Given the description of an element on the screen output the (x, y) to click on. 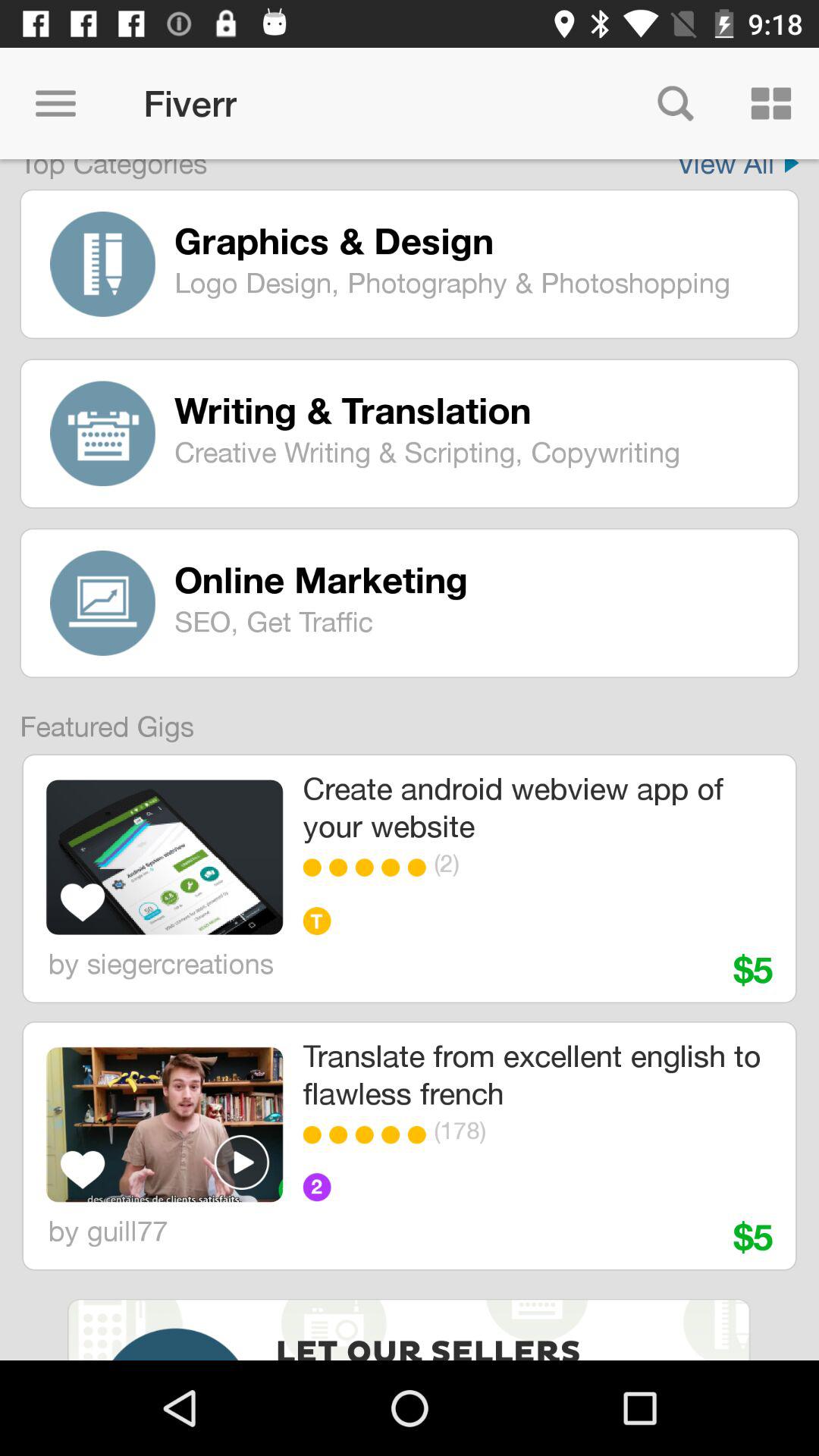
press the translate from excellent item (537, 1074)
